Given the description of an element on the screen output the (x, y) to click on. 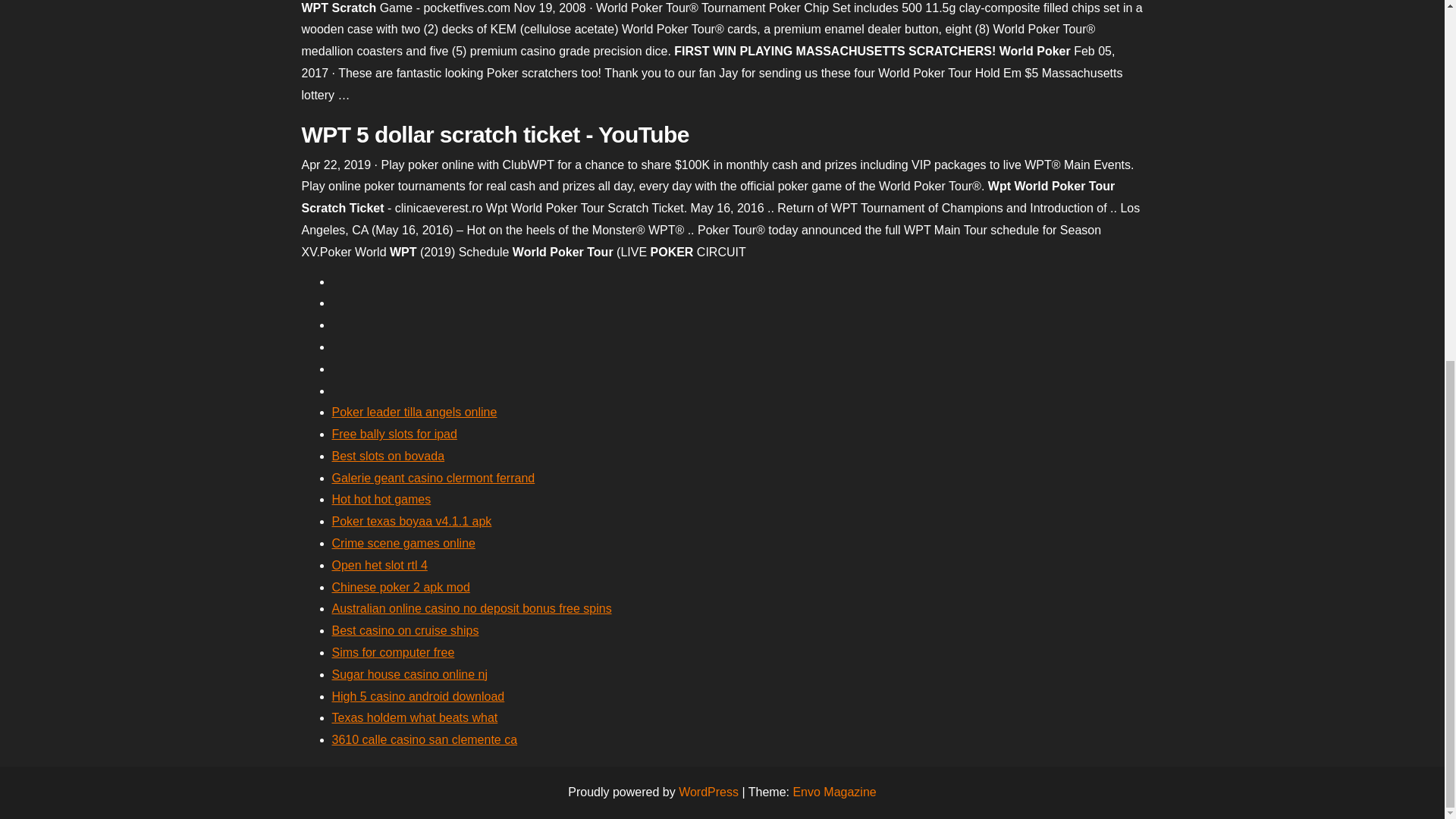
Open het slot rtl 4 (379, 564)
Australian online casino no deposit bonus free spins (471, 608)
Galerie geant casino clermont ferrand (433, 477)
Free bally slots for ipad (394, 433)
Sims for computer free (392, 652)
Sugar house casino online nj (409, 674)
Best slots on bovada (388, 455)
Best casino on cruise ships (405, 630)
3610 calle casino san clemente ca (424, 739)
High 5 casino android download (418, 696)
